Given the description of an element on the screen output the (x, y) to click on. 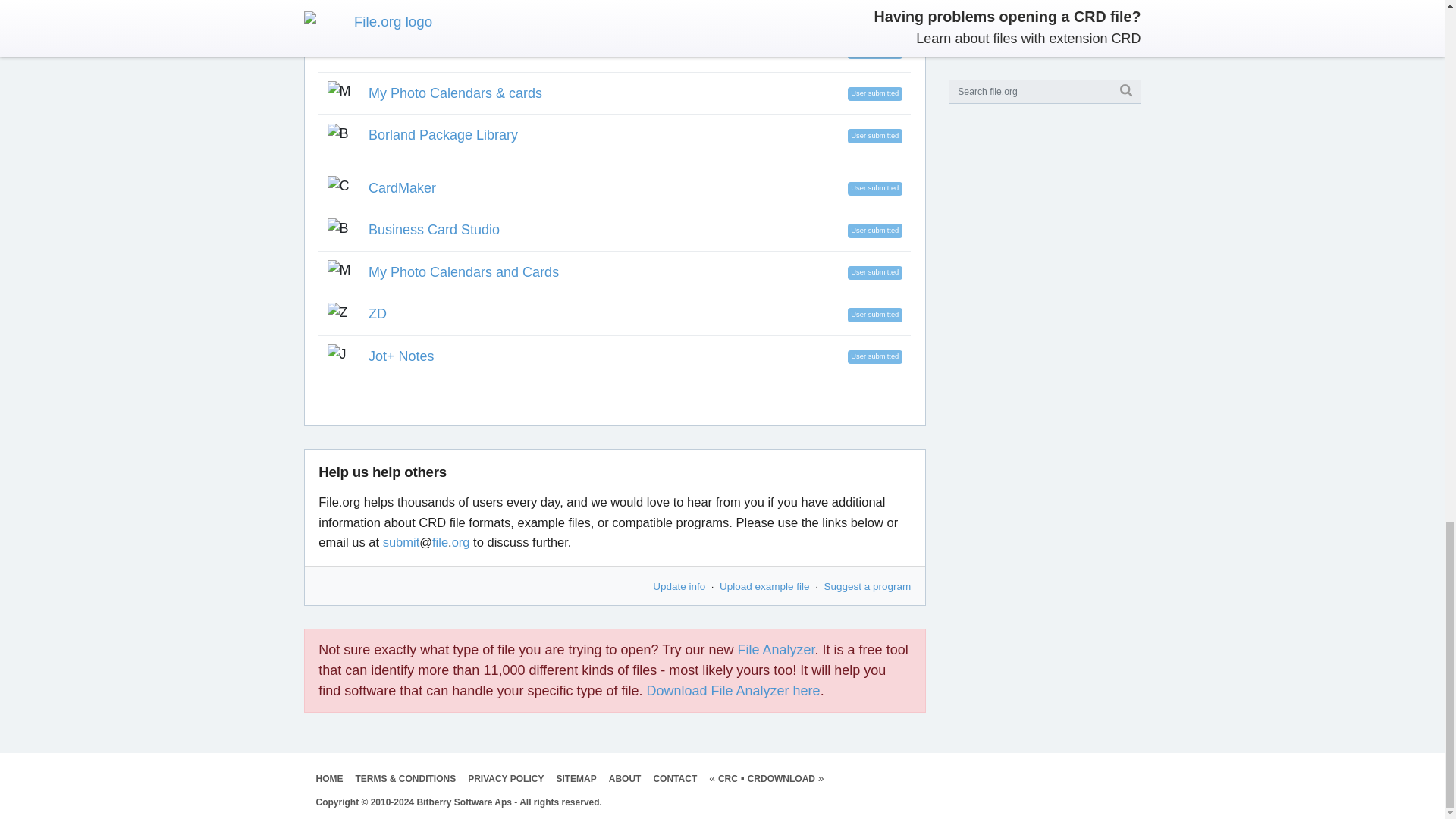
Update info (678, 586)
CRDOWNLOAD (781, 778)
CASIO REPORT HOLDER (449, 50)
Download File Analyzer here (732, 690)
GCC32 Application (425, 8)
PRIVACY POLICY (505, 778)
Borland Package Library (443, 134)
File Analyzer (776, 649)
Business Card Studio (433, 229)
CONTACT (674, 778)
